Given the description of an element on the screen output the (x, y) to click on. 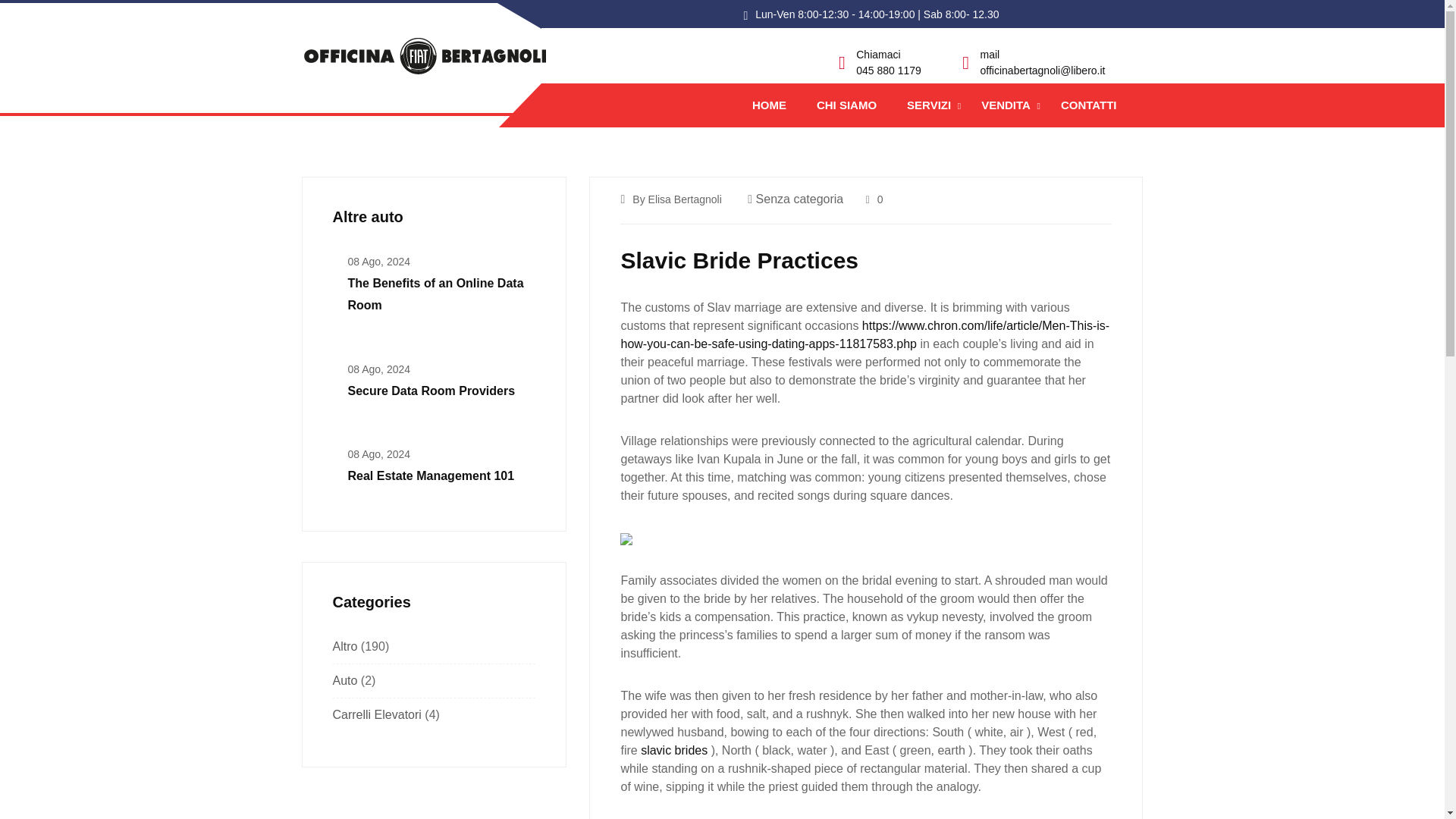
SERVIZI (928, 105)
Auto (343, 680)
The Benefits of an Online Data Room (434, 294)
By Elisa Bertagnoli (676, 199)
slavic brides (673, 749)
Secure Data Room Providers (431, 390)
HOME (769, 105)
VENDITA (1004, 105)
CHI SIAMO (846, 105)
Carrelli Elevatori (375, 714)
